Given the description of an element on the screen output the (x, y) to click on. 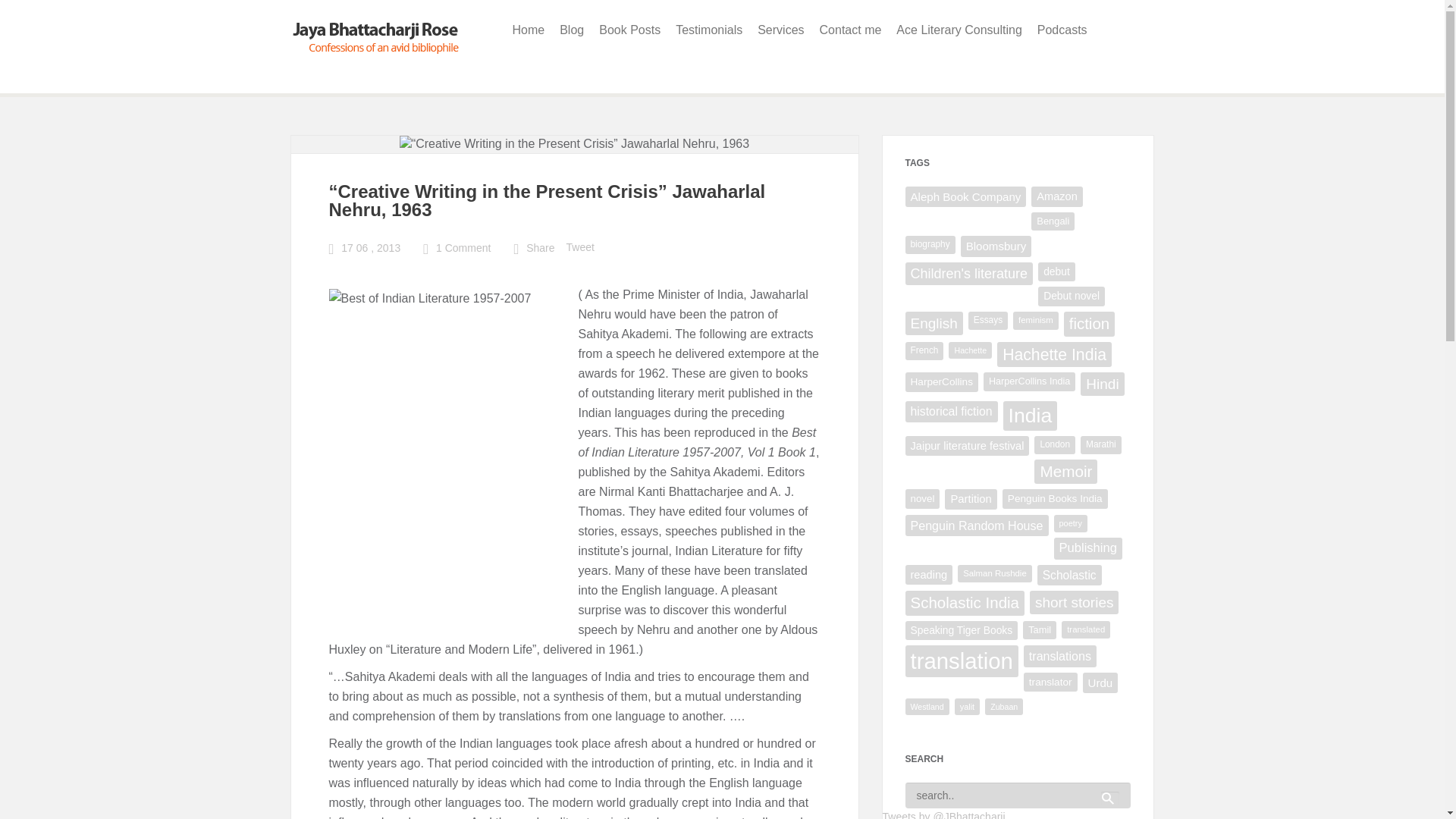
Share (539, 247)
Book Posts (629, 30)
Home (529, 30)
Blog (571, 30)
1 Comment (462, 247)
Services (779, 30)
Testimonials (708, 30)
Tweet (580, 246)
Ace Literary Consulting (958, 30)
17 06 , 2013 (370, 247)
